Given the description of an element on the screen output the (x, y) to click on. 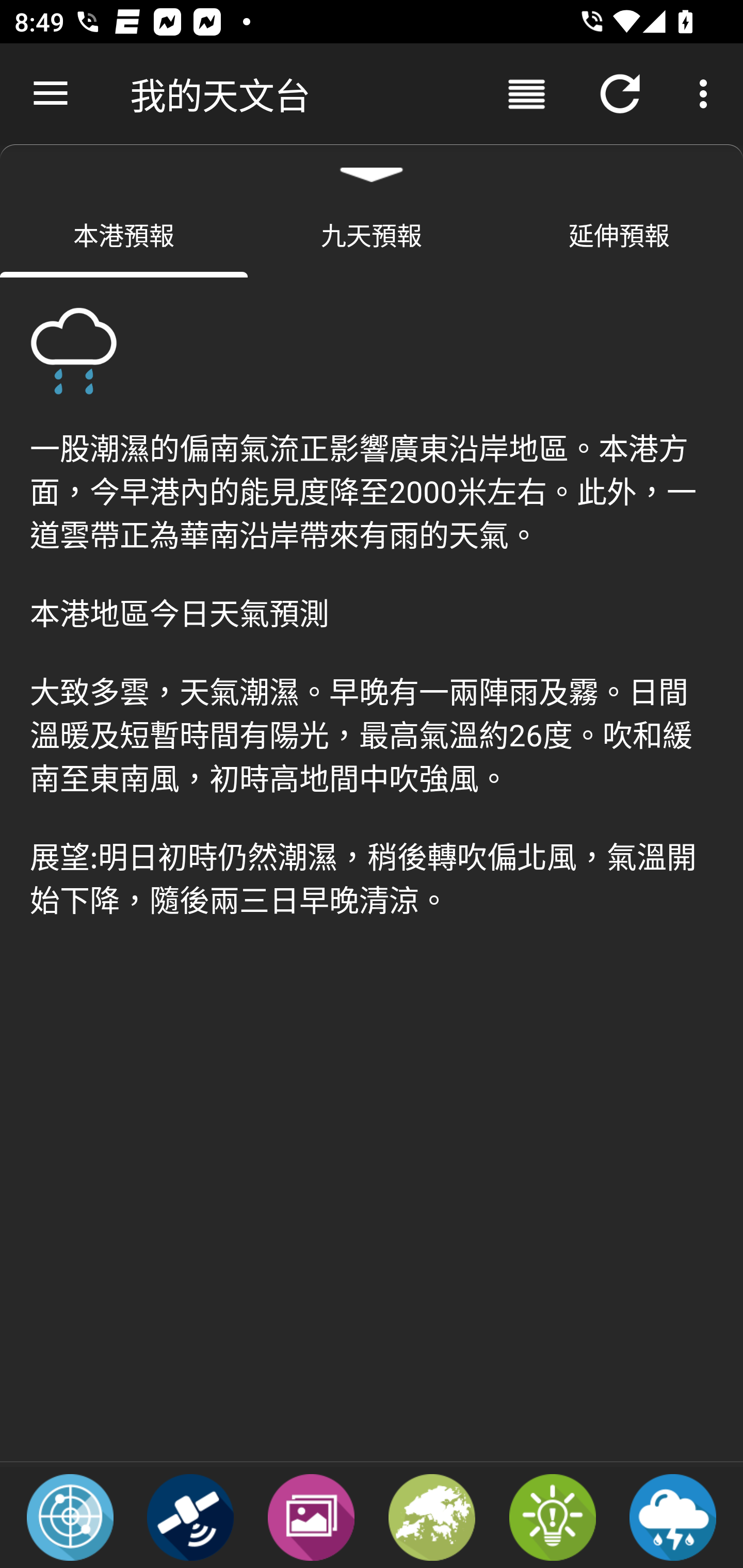
向上瀏覽 (50, 93)
直向佈局 (525, 93)
重新整理 (619, 93)
更多選項 (706, 93)
隱藏 (371, 167)
九天預報 (371, 234)
延伸預報 (619, 234)
雷達圖像 (69, 1516)
衛星圖像 (190, 1516)
天氣照片 (310, 1516)
分區天氣 (431, 1516)
天氣提示 (551, 1516)
定點降雨及閃電預報 (672, 1516)
